Given the description of an element on the screen output the (x, y) to click on. 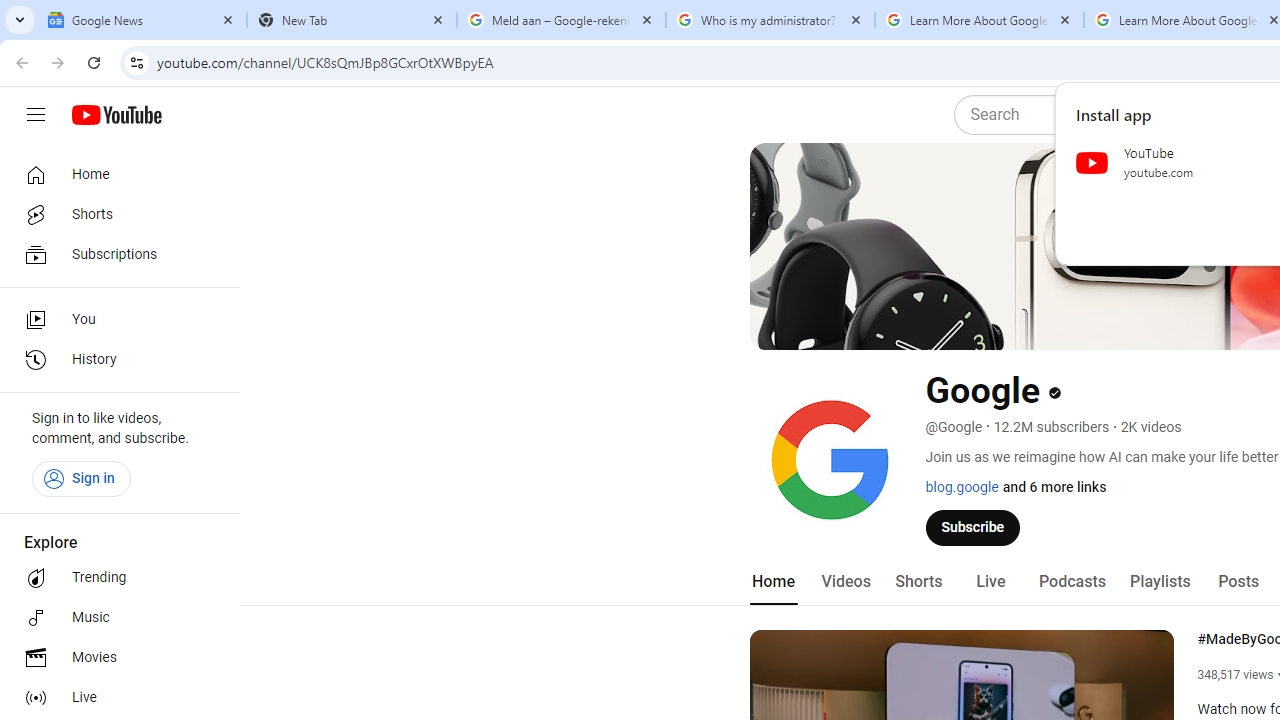
Music (113, 617)
Shorts (113, 214)
Who is my administrator? - Google Account Help (770, 20)
History (113, 359)
Posts (1238, 581)
New Tab (351, 20)
Playlists (1160, 581)
and 6 more links (1054, 487)
Subscribe (973, 527)
